Given the description of an element on the screen output the (x, y) to click on. 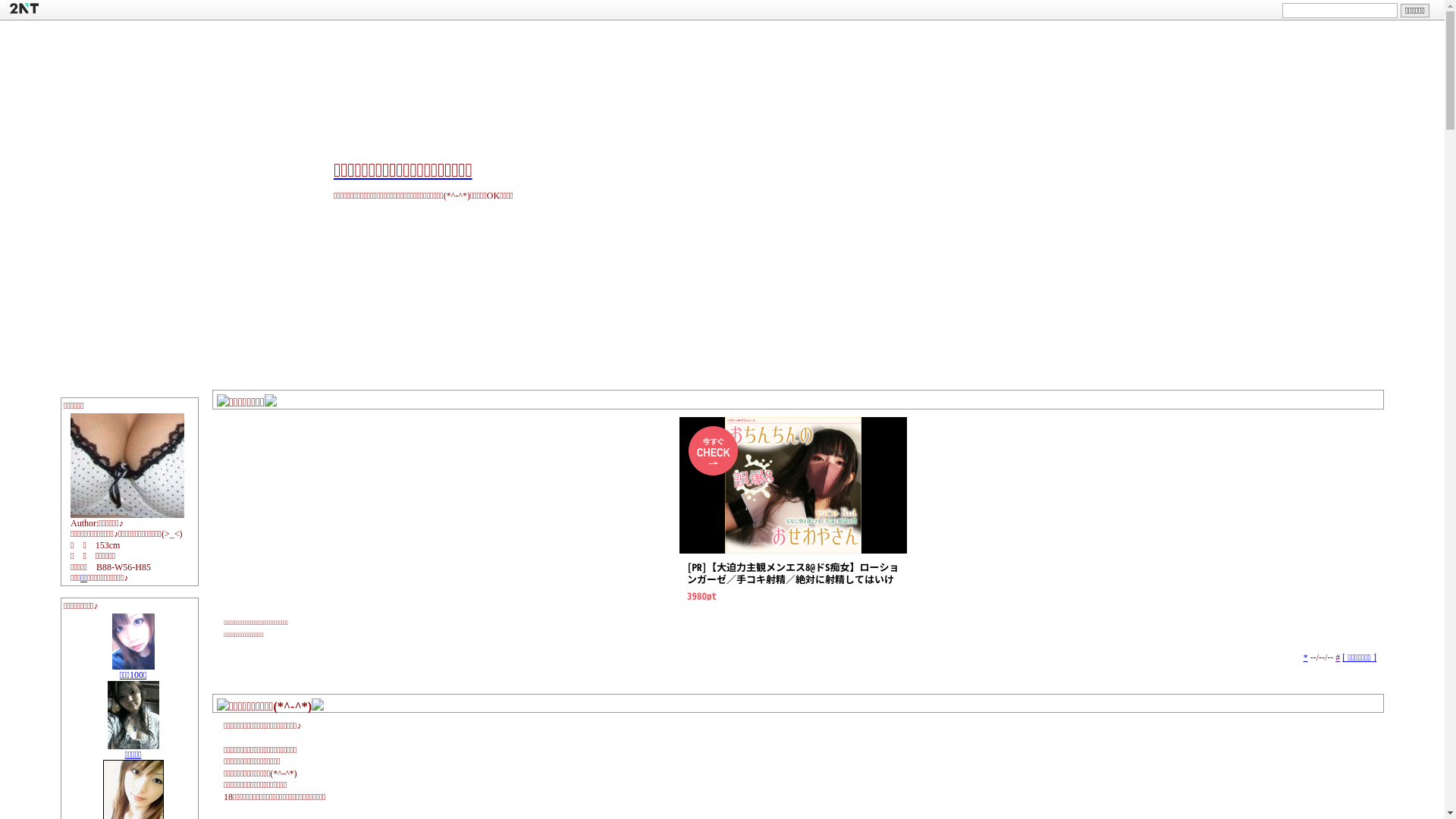
* Element type: text (1305, 657)
# Element type: text (1337, 657)
